Given the description of an element on the screen output the (x, y) to click on. 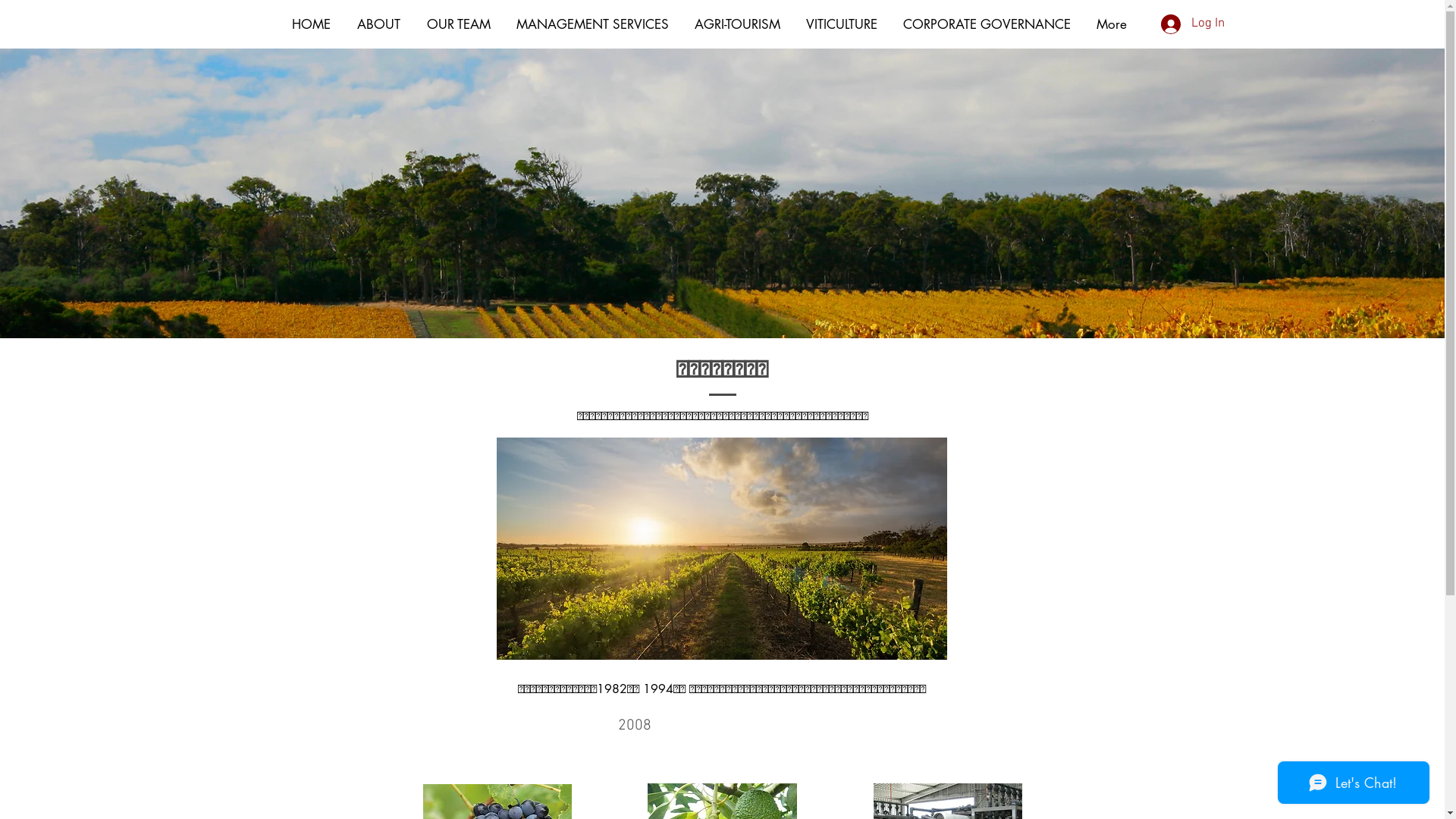
CORPORATE GOVERNANCE Element type: text (986, 24)
Log In Element type: text (1191, 23)
ABOUT Element type: text (379, 24)
AGRI-TOURISM Element type: text (736, 24)
MANAGEMENT SERVICES Element type: text (592, 24)
VITICULTURE Element type: text (841, 24)
HOME Element type: text (311, 24)
